Given the description of an element on the screen output the (x, y) to click on. 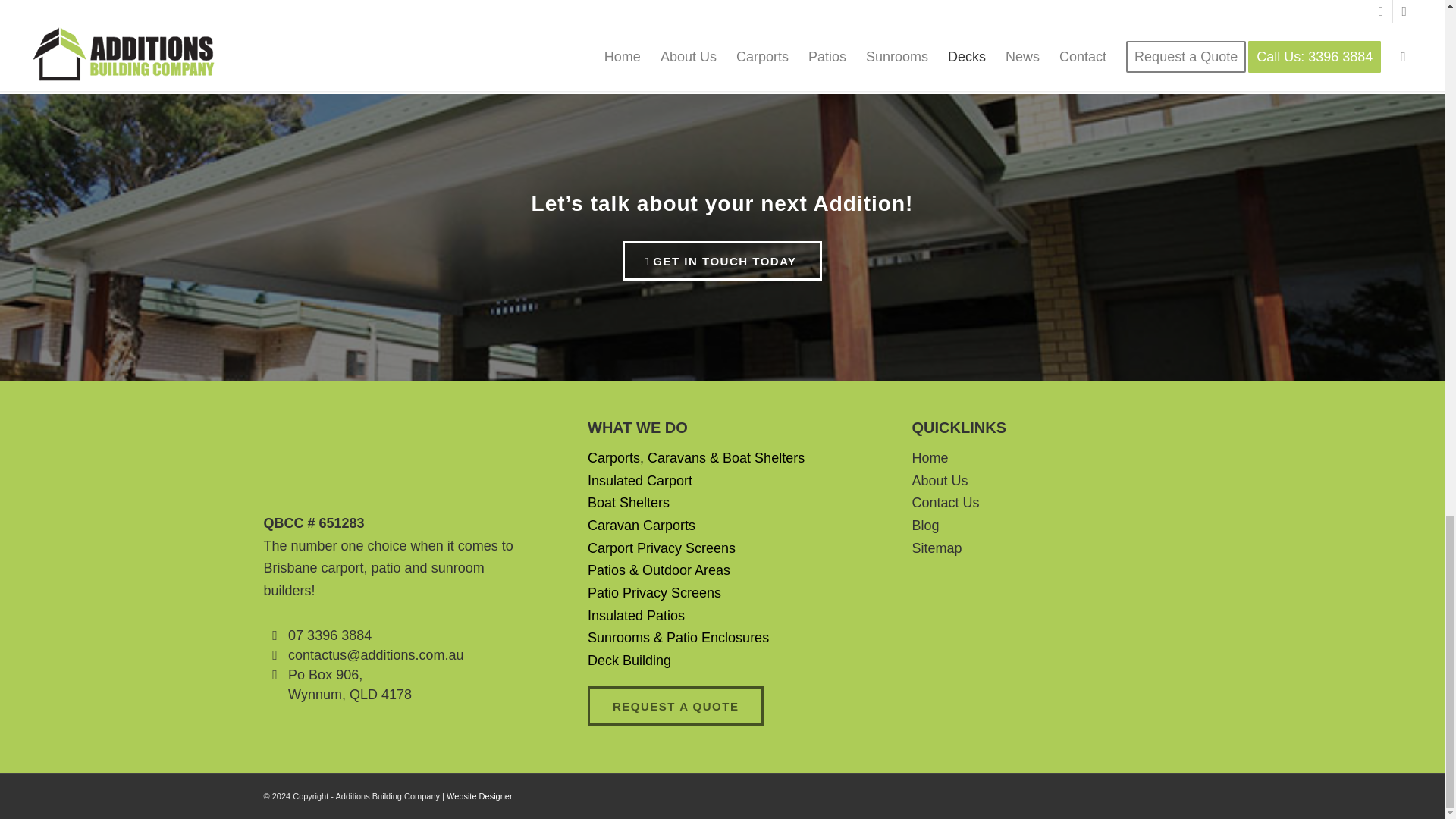
07 3396 3884 (329, 635)
07 3396 3884 (329, 635)
Boat Shelters (628, 502)
Insulated Carport (640, 480)
GET IN TOUCH TODAY (722, 260)
